Given the description of an element on the screen output the (x, y) to click on. 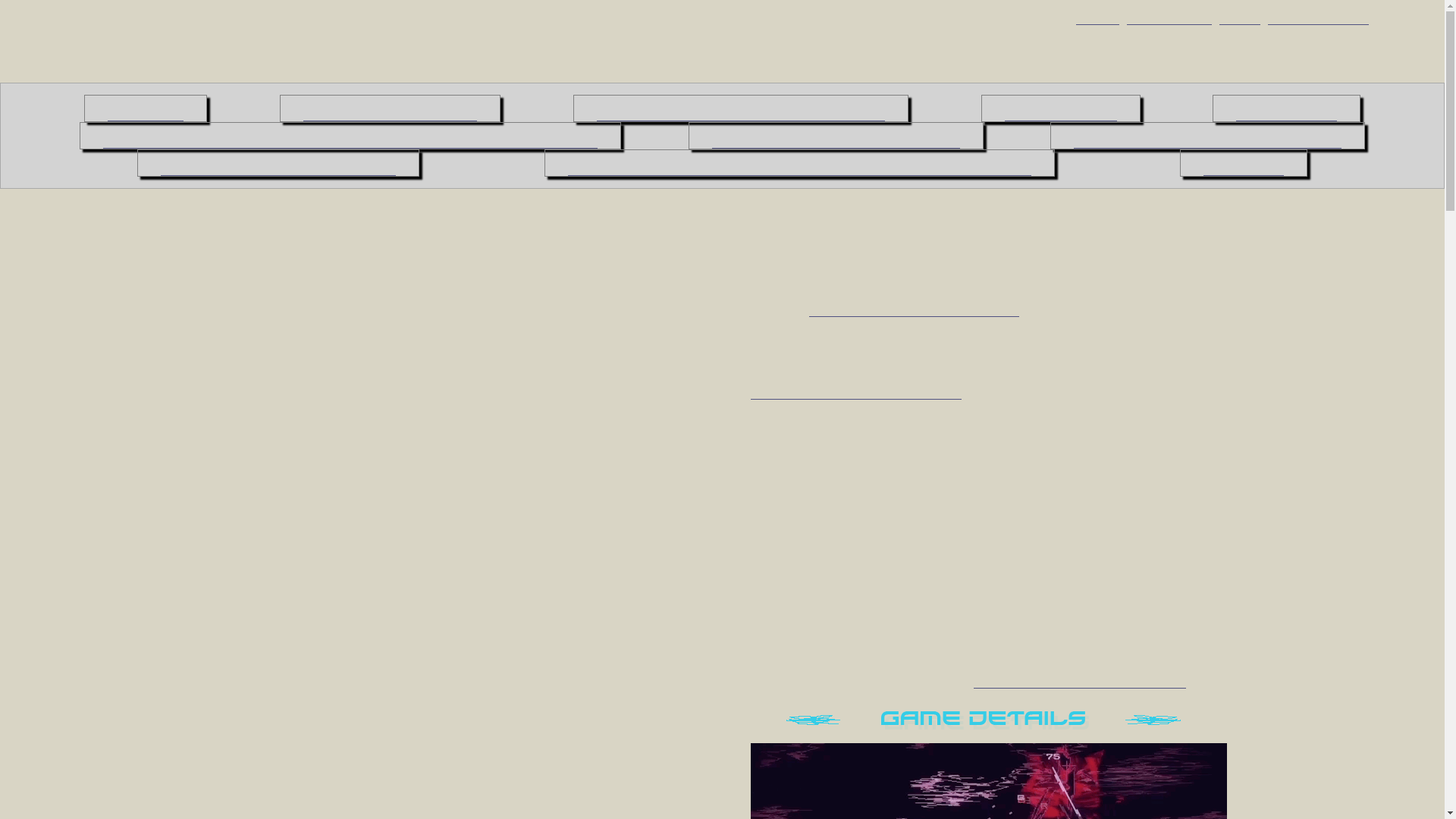
SUBMIT YOUR GAMES! (835, 135)
SHOP (1097, 16)
PATREON (1286, 108)
ISSUES (145, 108)
CONTRIBUTORS (389, 108)
MY ACCOUNT (1318, 16)
INDIE WEB TURNPIKE (278, 162)
10 INDIEPOCALYPSE PICKS (740, 108)
PIZZA PRANKS (721, 40)
INDIEPOCALYPSE RADIO (1207, 135)
